Given the description of an element on the screen output the (x, y) to click on. 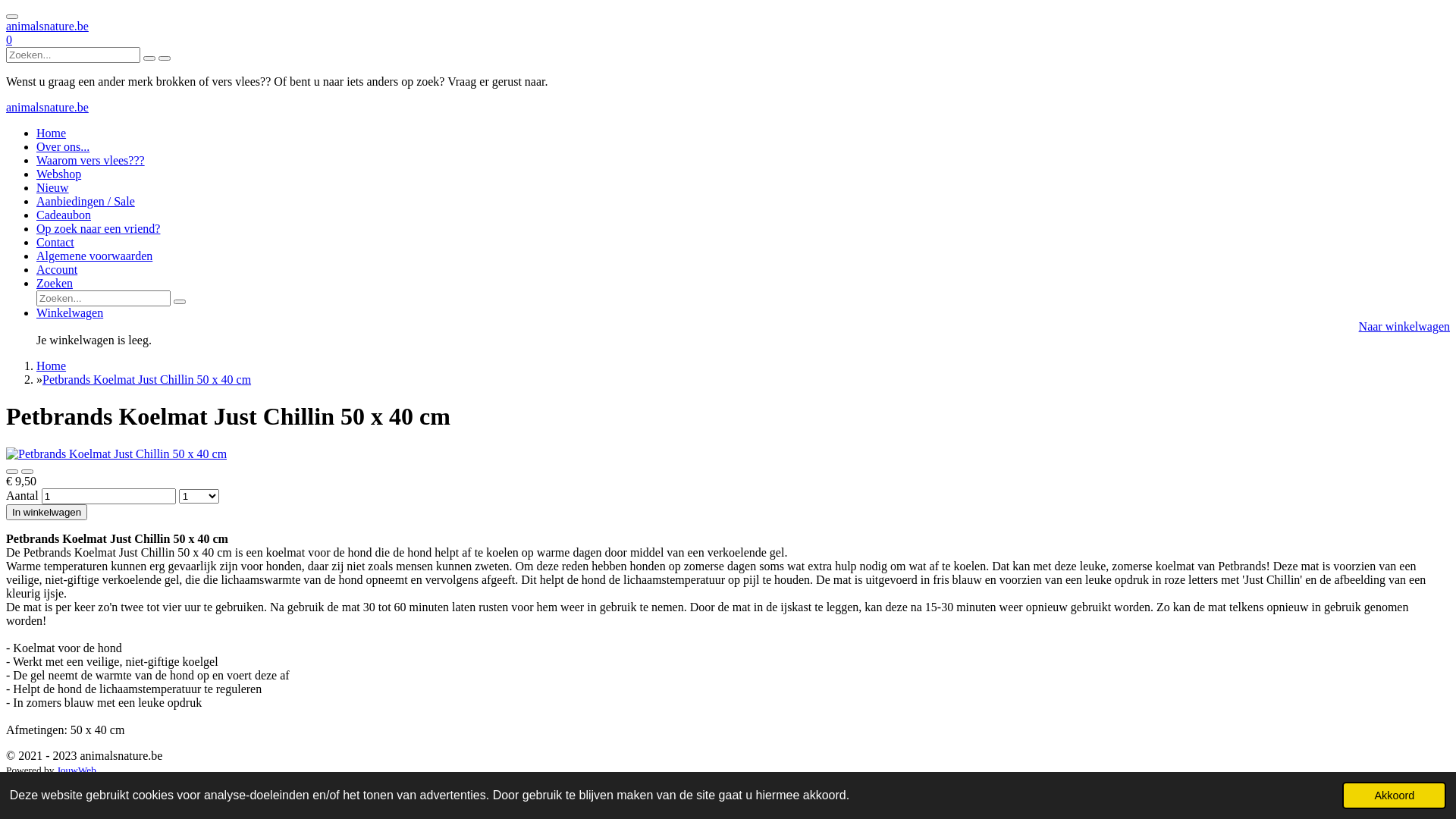
E-mailadres Element type: text (36, 782)
Akkoord Element type: text (1394, 795)
WhatsApp Element type: text (209, 782)
Petbrands Koelmat Just Chillin 50 x 40 cm Element type: text (146, 379)
Algemene voorwaarden Element type: text (94, 255)
JouwWeb Element type: text (76, 769)
animalsnature.be Element type: text (47, 106)
Account Element type: text (56, 269)
Webshop Element type: text (58, 173)
Winkelwagen Element type: text (69, 312)
Kaart Element type: text (168, 782)
animalsnature.be Element type: text (47, 25)
Cadeaubon Element type: text (63, 214)
Home Element type: text (50, 132)
Home Element type: text (50, 365)
Contact Element type: text (55, 241)
Telefoonnummer Element type: text (110, 782)
Nieuw Element type: text (52, 187)
Zoeken Element type: text (54, 282)
Naar winkelwagen Element type: text (1403, 326)
Aanbiedingen / Sale Element type: text (85, 200)
0 Element type: text (9, 39)
Over ons... Element type: text (62, 146)
Op zoek naar een vriend? Element type: text (98, 228)
In winkelwagen Element type: text (46, 512)
Waarom vers vlees??? Element type: text (90, 159)
